Given the description of an element on the screen output the (x, y) to click on. 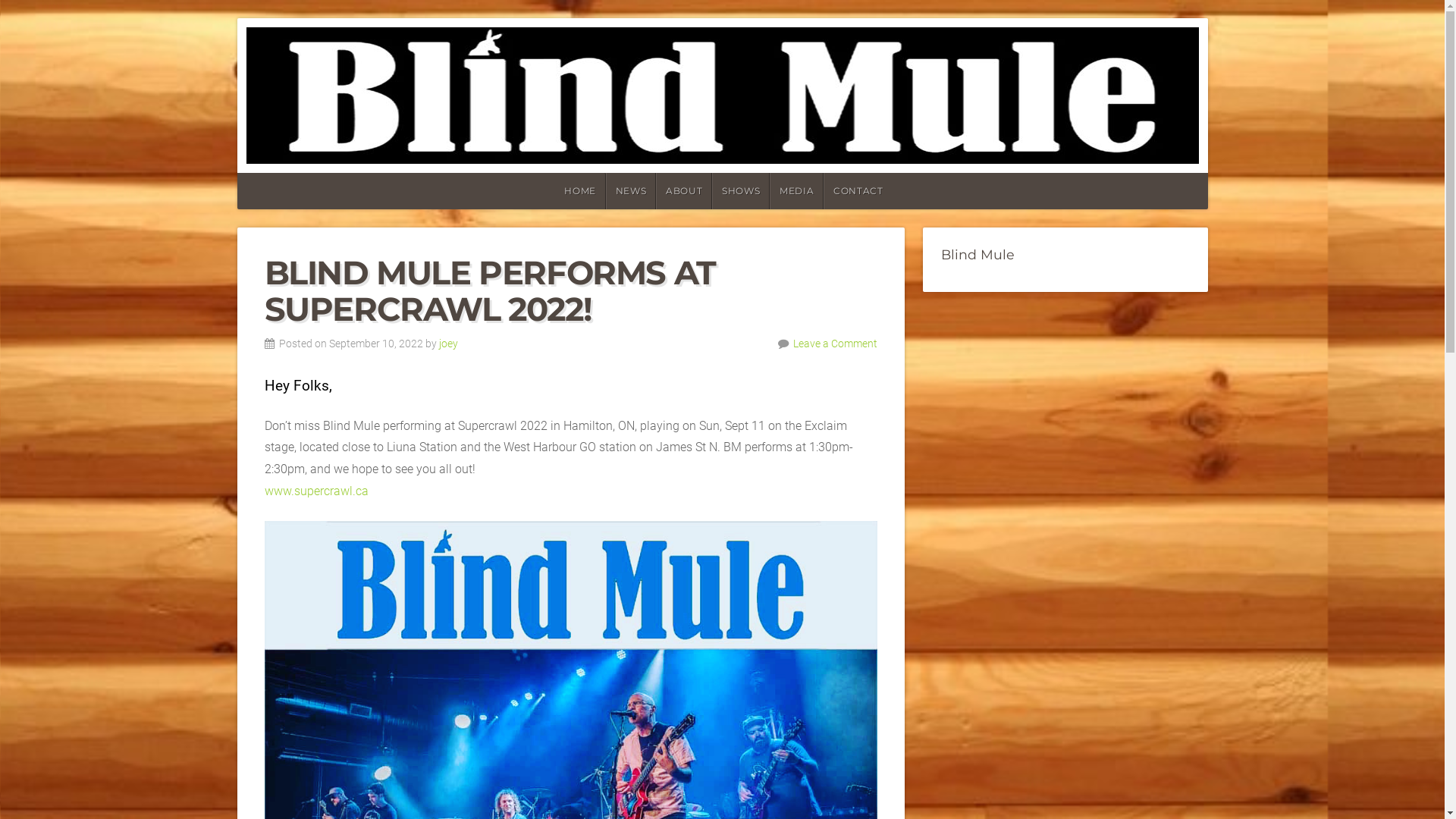
ABOUT Element type: text (683, 190)
MEDIA Element type: text (796, 190)
www.supercrawl.ca Element type: text (315, 490)
SHOWS Element type: text (740, 190)
NEWS Element type: text (630, 190)
joey Element type: text (447, 343)
CONTACT Element type: text (857, 190)
HOME Element type: text (578, 190)
Leave a Comment Element type: text (835, 343)
